Given the description of an element on the screen output the (x, y) to click on. 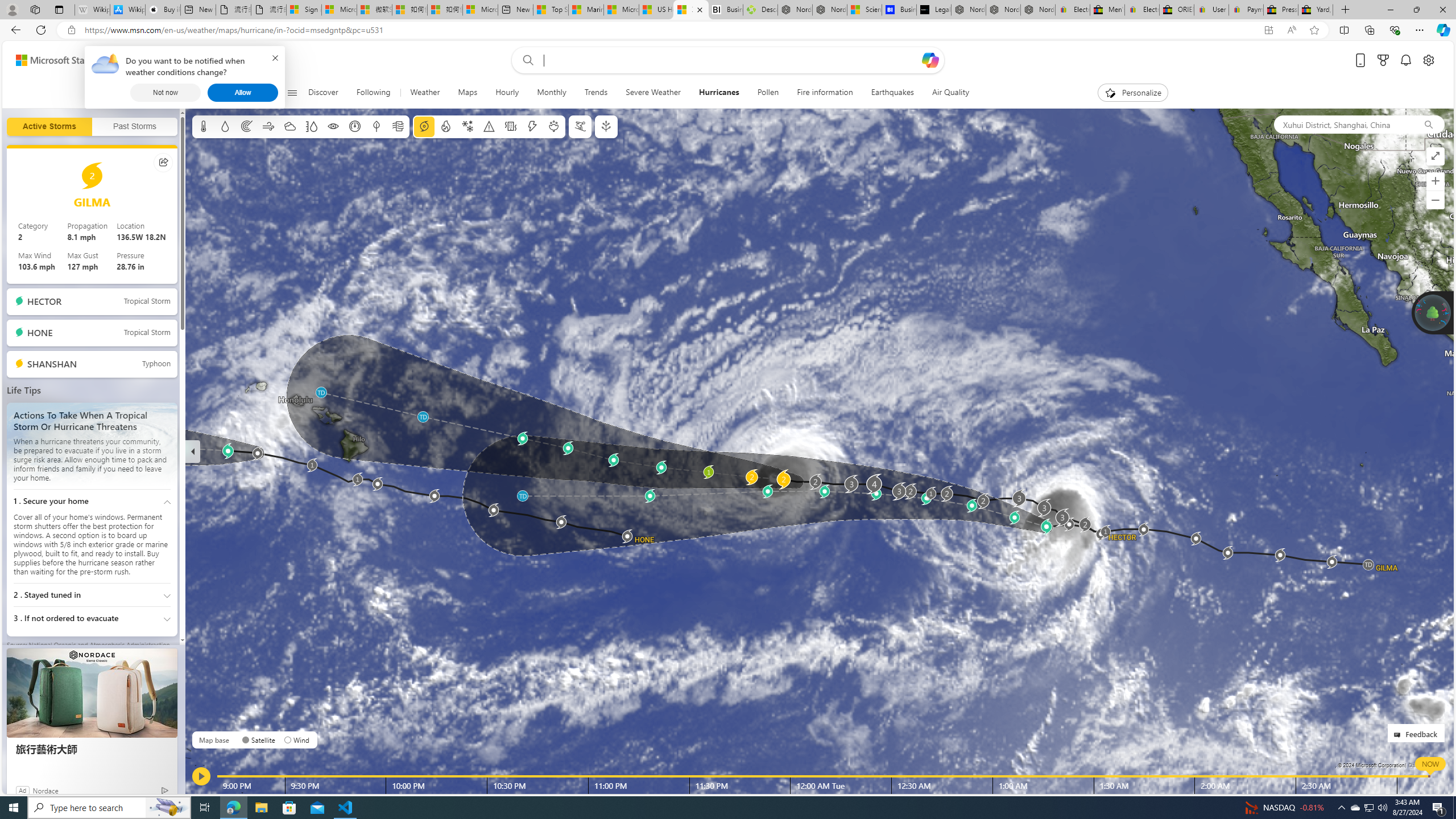
Monthly (551, 92)
